Given the description of an element on the screen output the (x, y) to click on. 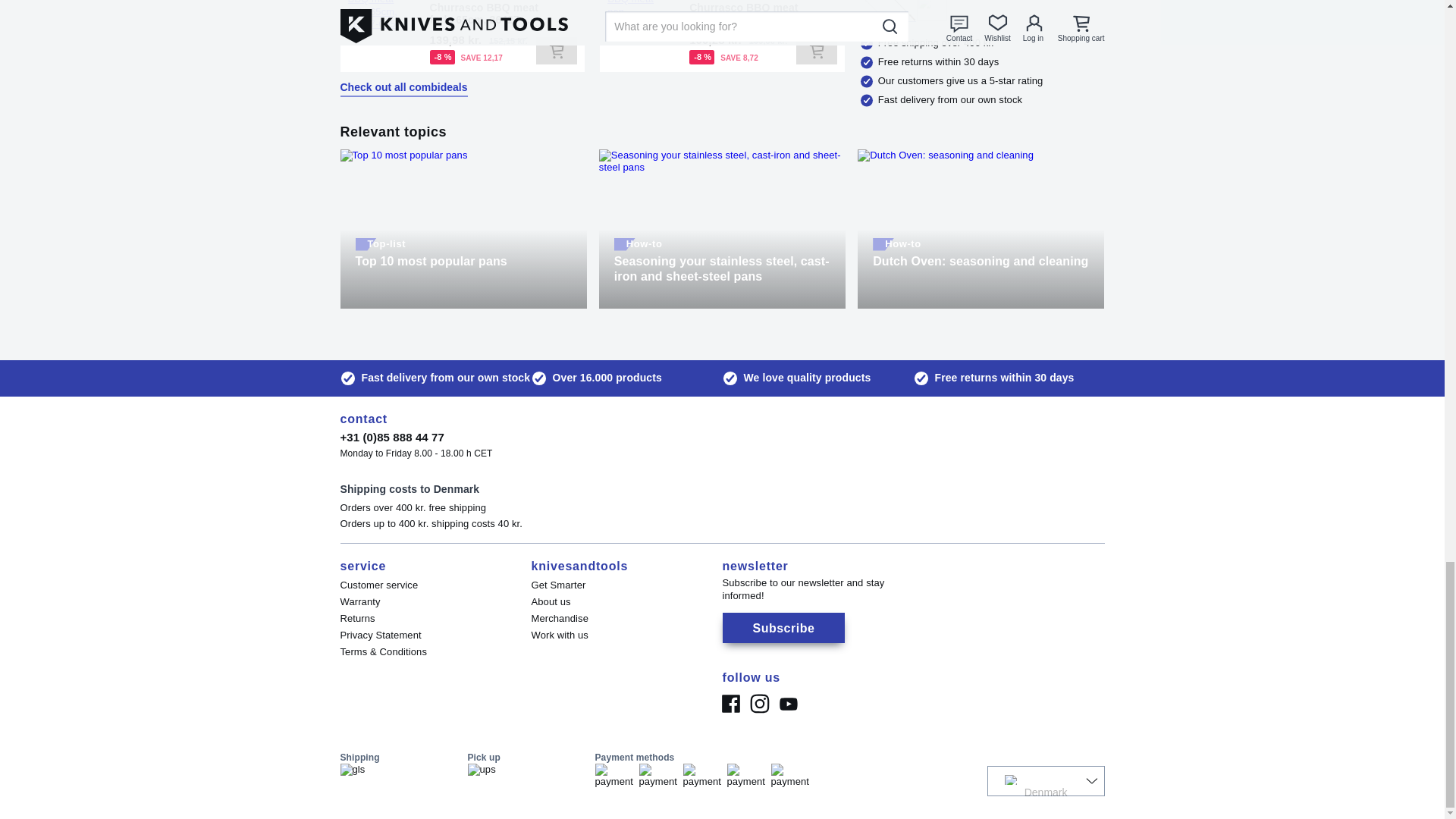
Facebook (730, 703)
Youtube (787, 703)
Instagram (758, 703)
